Given the description of an element on the screen output the (x, y) to click on. 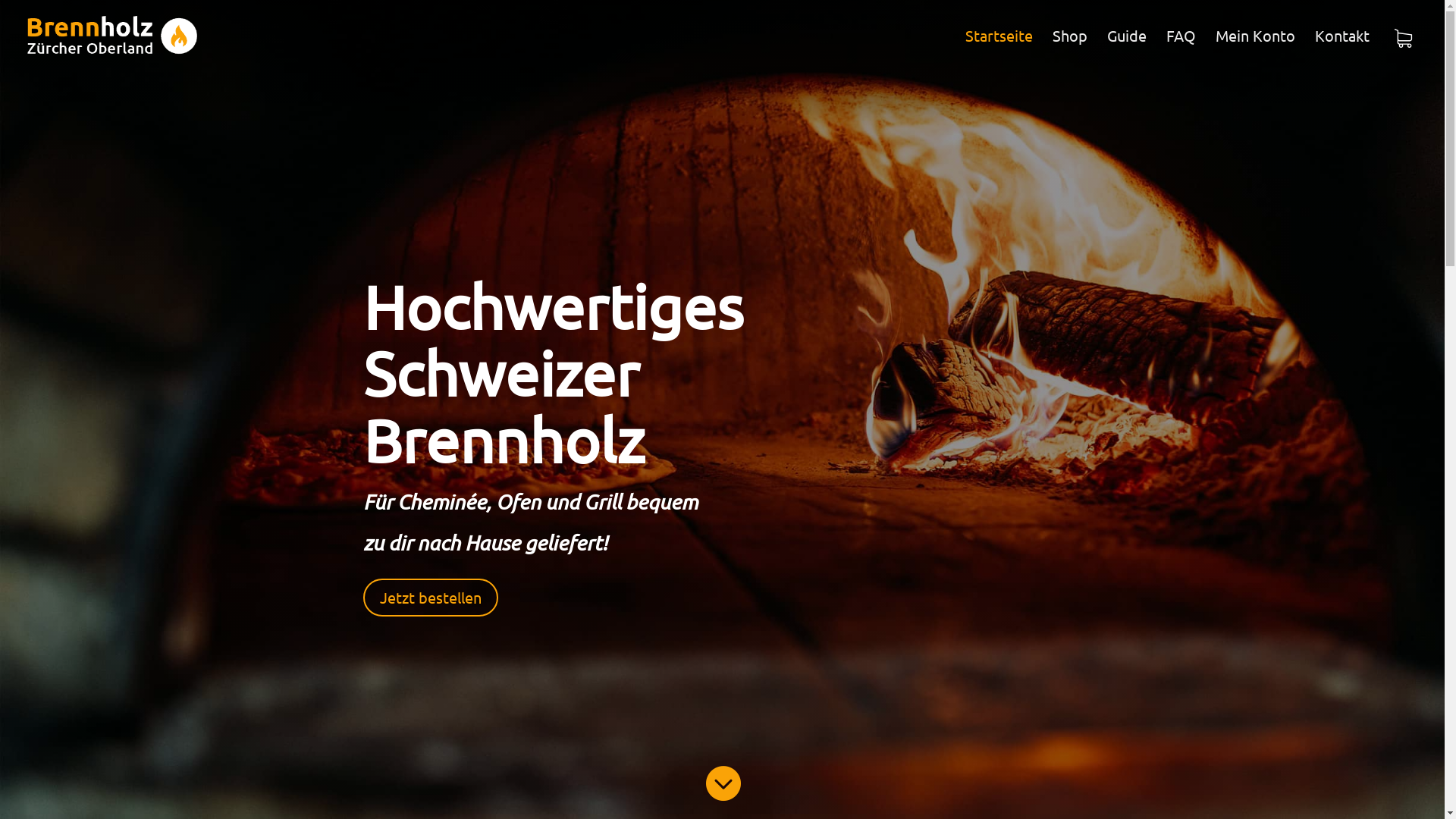
Startseite Element type: text (998, 50)
Mein Konto Element type: text (1255, 50)
Guide Element type: text (1126, 50)
Jetzt bestellen Element type: text (429, 597)
Kontakt Element type: text (1341, 50)
Shop Element type: text (1069, 50)
FAQ Element type: text (1180, 50)
